Given the description of an element on the screen output the (x, y) to click on. 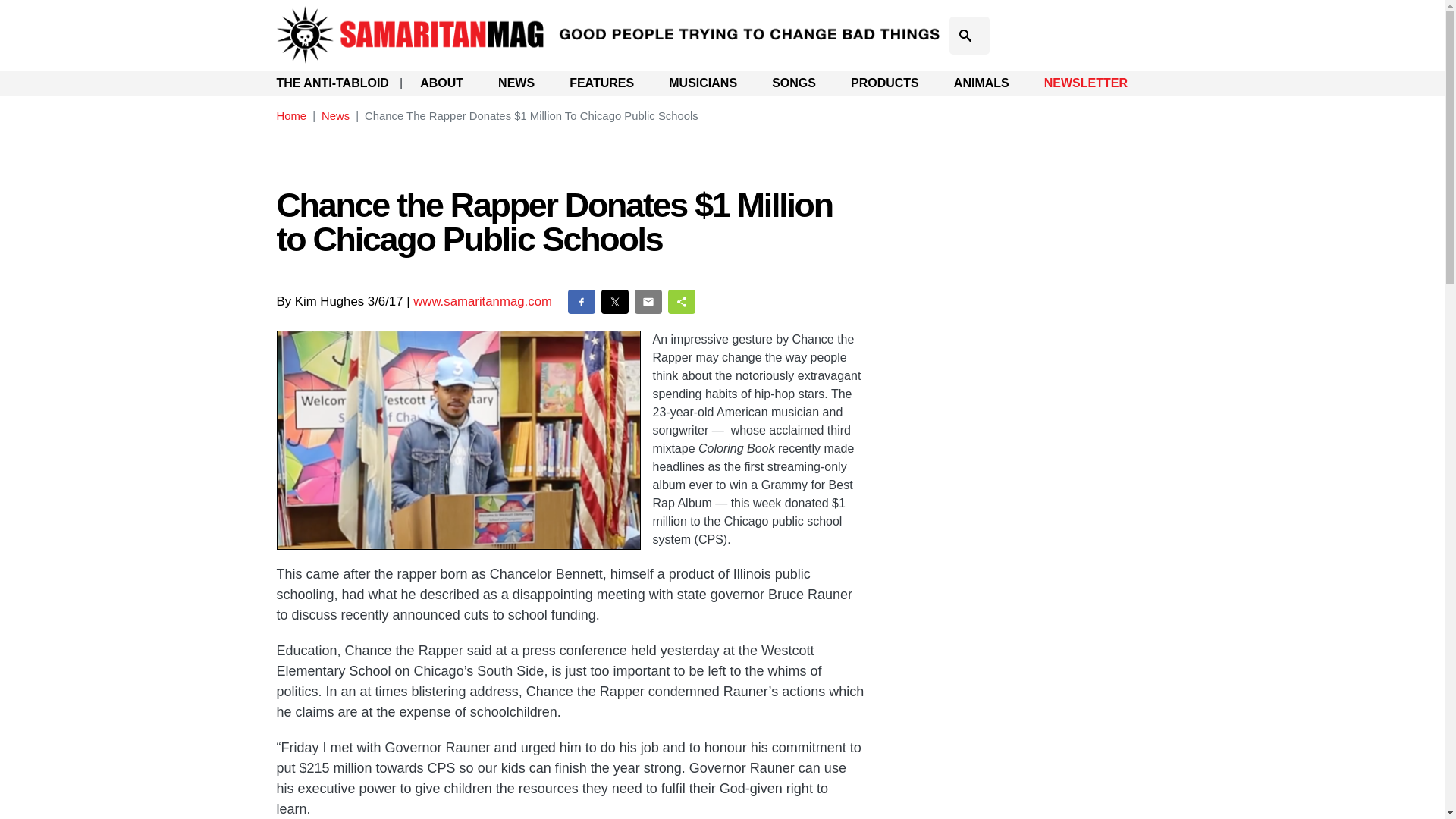
ABOUT (441, 83)
www.samaritanmag.com (482, 301)
PRODUCTS (884, 83)
Home (610, 16)
SONGS (793, 83)
Search (973, 55)
ANIMALS (981, 83)
Advertisement (1026, 243)
NEWS (515, 83)
News (335, 115)
Home (290, 115)
THE ANTI-TABLOID (332, 83)
MUSICIANS (702, 83)
Enter search terms you wish to search for. (969, 35)
FEATURES (601, 83)
